Given the description of an element on the screen output the (x, y) to click on. 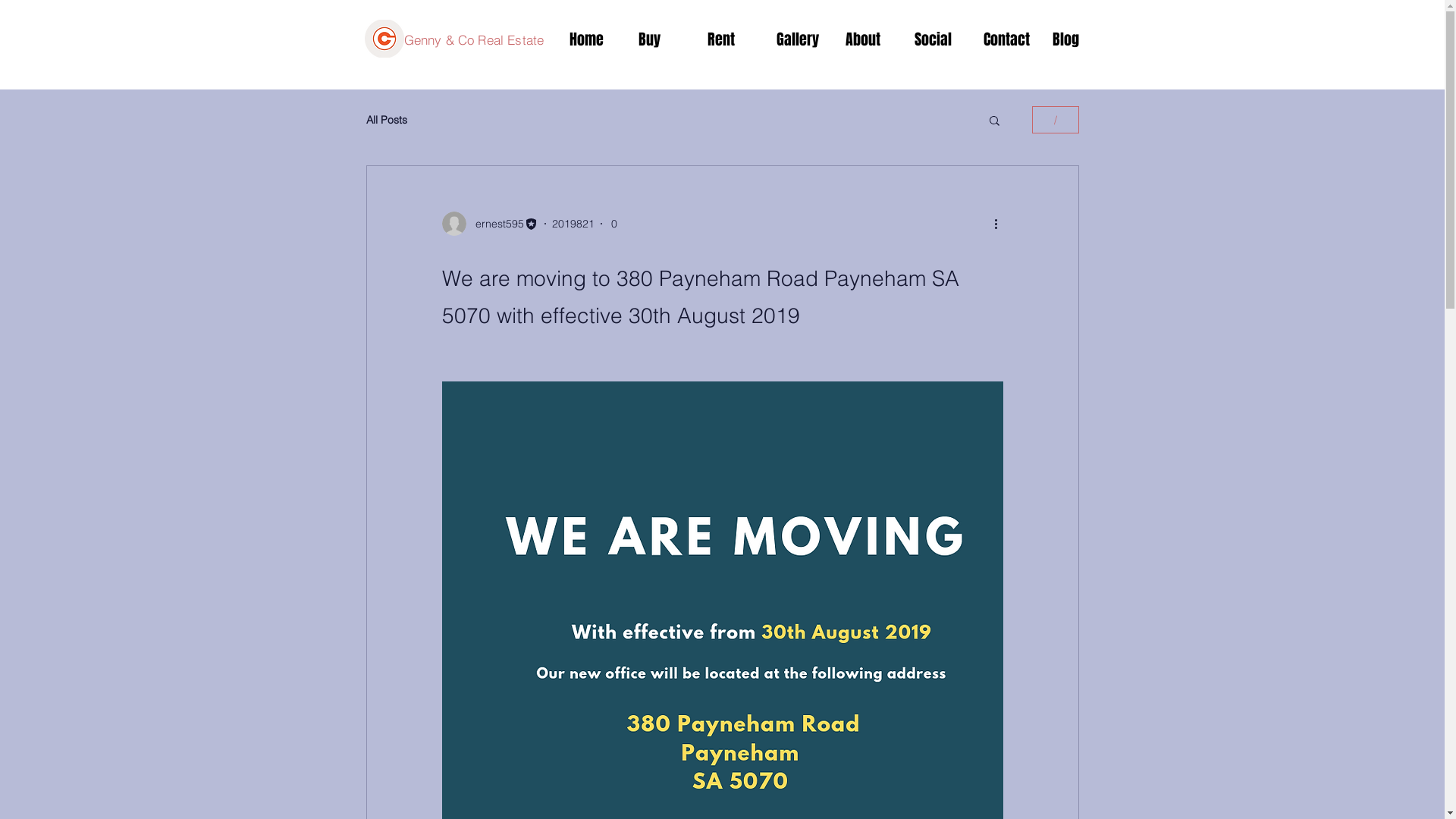
Buy Element type: text (660, 39)
Gallery Element type: text (798, 39)
Home Element type: text (592, 39)
Genny & Co Real Estate Element type: text (473, 39)
Rent Element type: text (730, 39)
Social Element type: text (936, 39)
Blog Element type: text (1074, 39)
All Posts Element type: text (385, 119)
Contact Element type: text (1006, 39)
About Element type: text (868, 39)
